Given the description of an element on the screen output the (x, y) to click on. 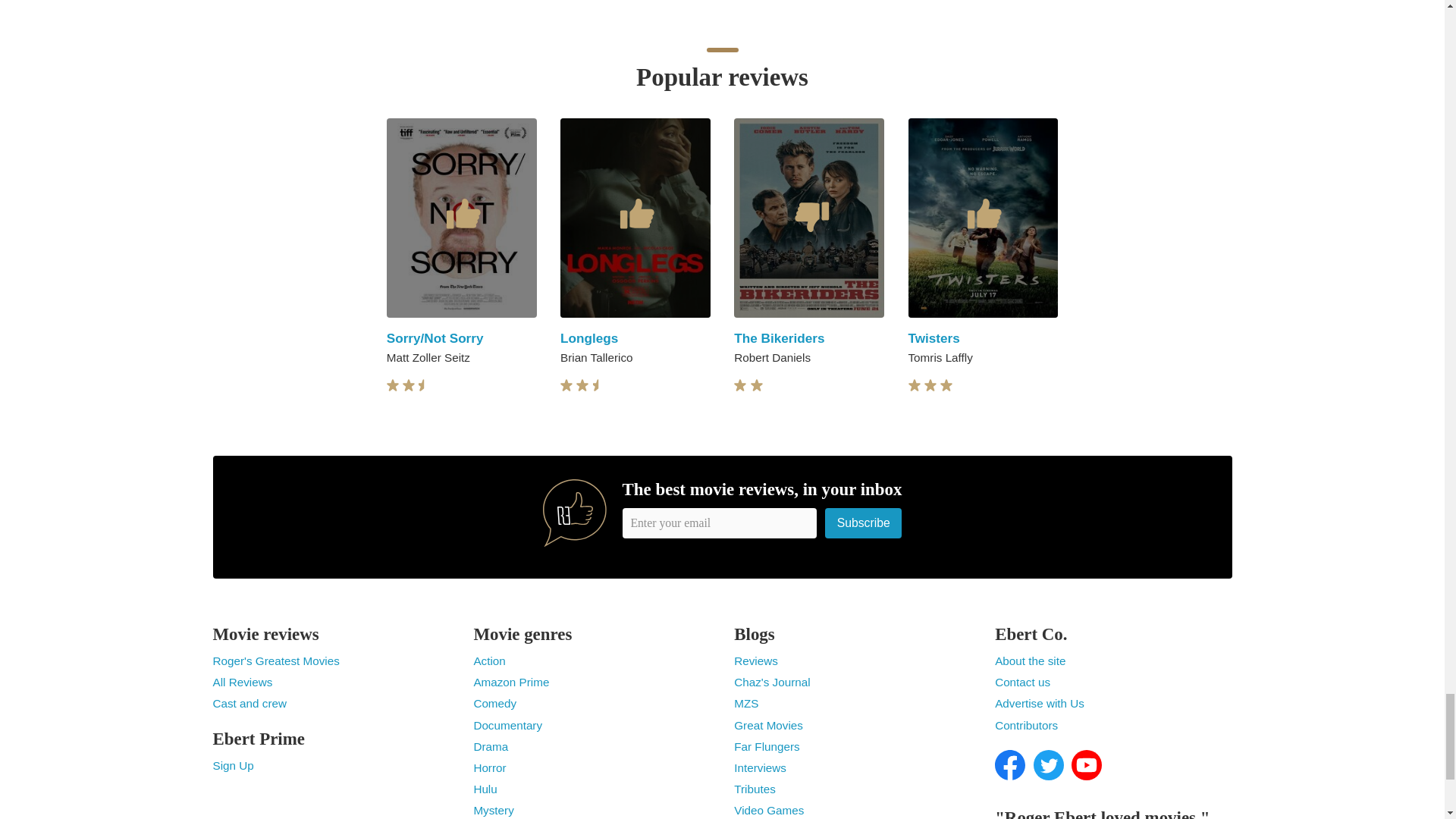
Subscribe (863, 522)
